Given the description of an element on the screen output the (x, y) to click on. 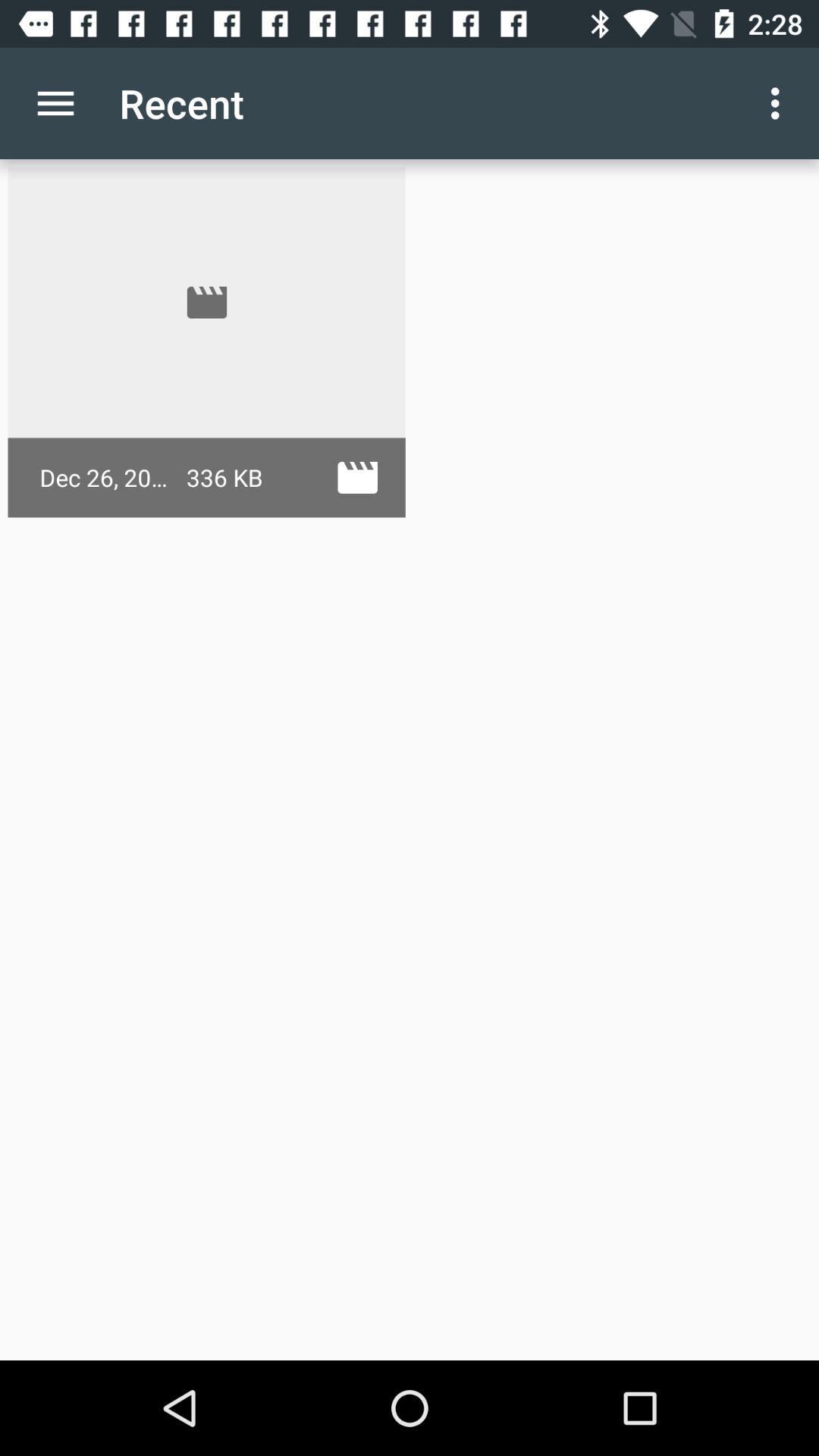
select the app to the right of recent app (779, 103)
